Given the description of an element on the screen output the (x, y) to click on. 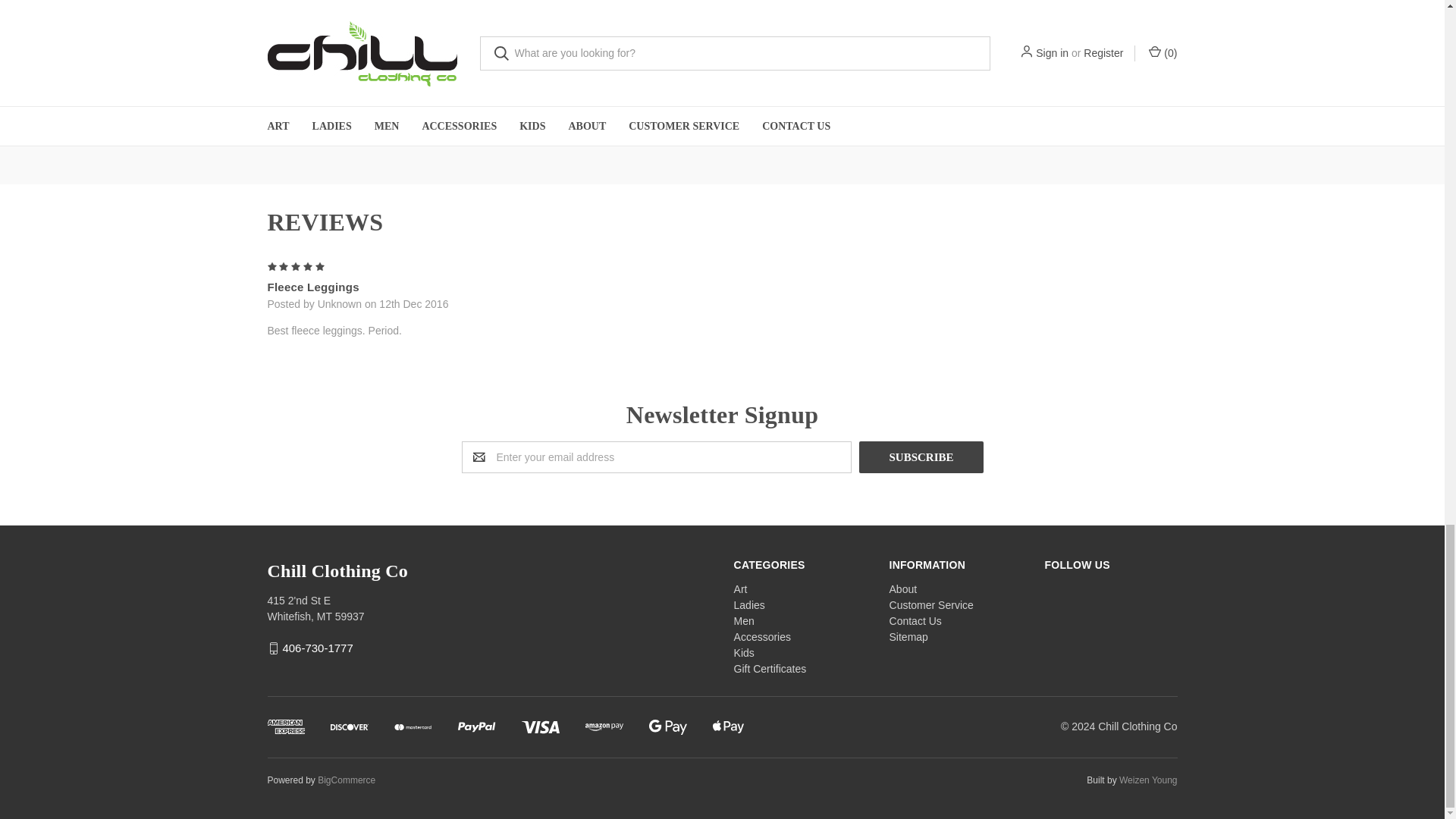
Leggings with Cute Camping Trailers Design (606, 38)
Leggings with Koi fish printed design (837, 38)
Fleece Lined Leggings (374, 38)
Subscribe (920, 457)
